Given the description of an element on the screen output the (x, y) to click on. 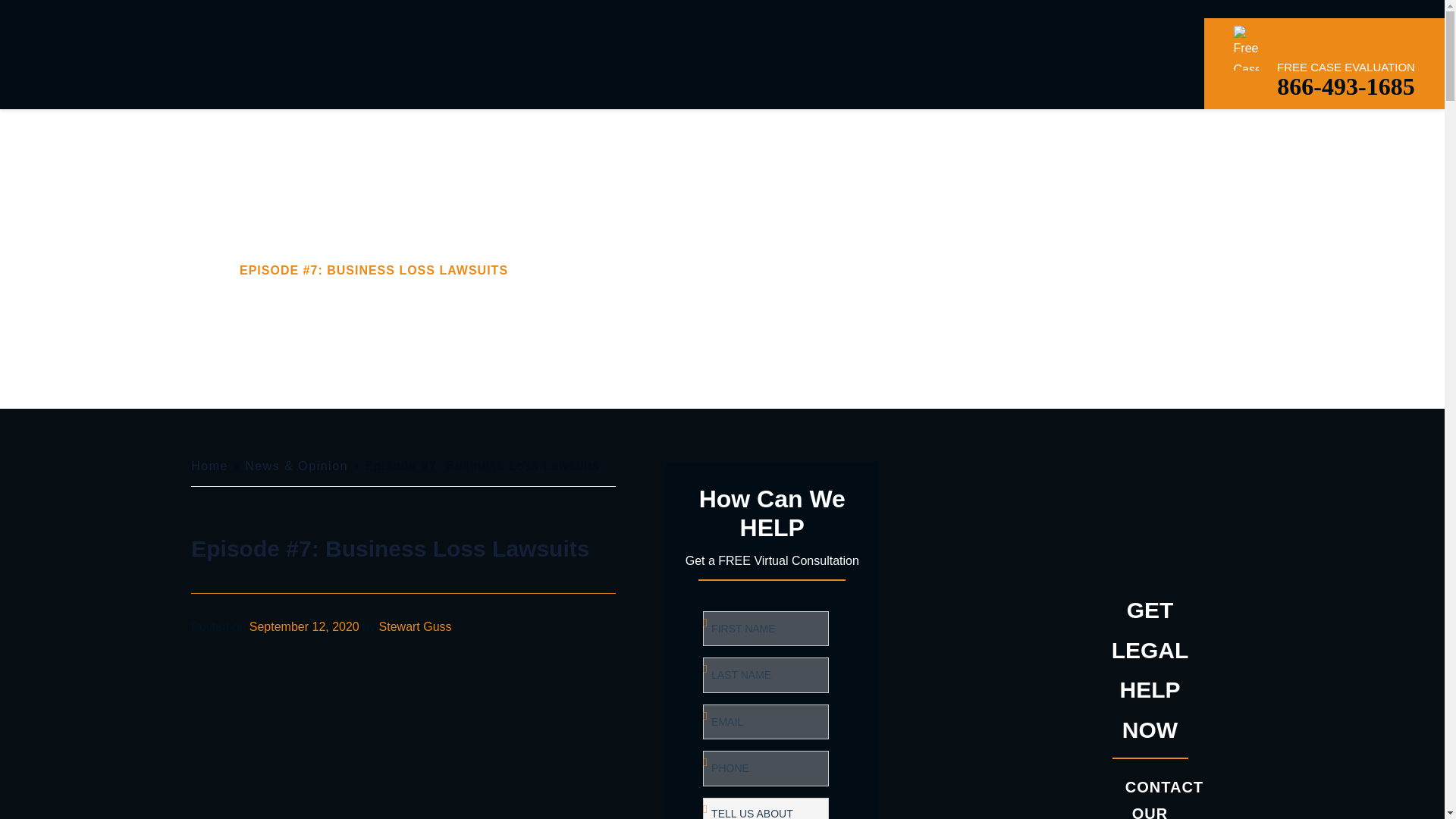
Stewart Guss (414, 626)
Home (209, 465)
September 12, 2020 (303, 626)
